Given the description of an element on the screen output the (x, y) to click on. 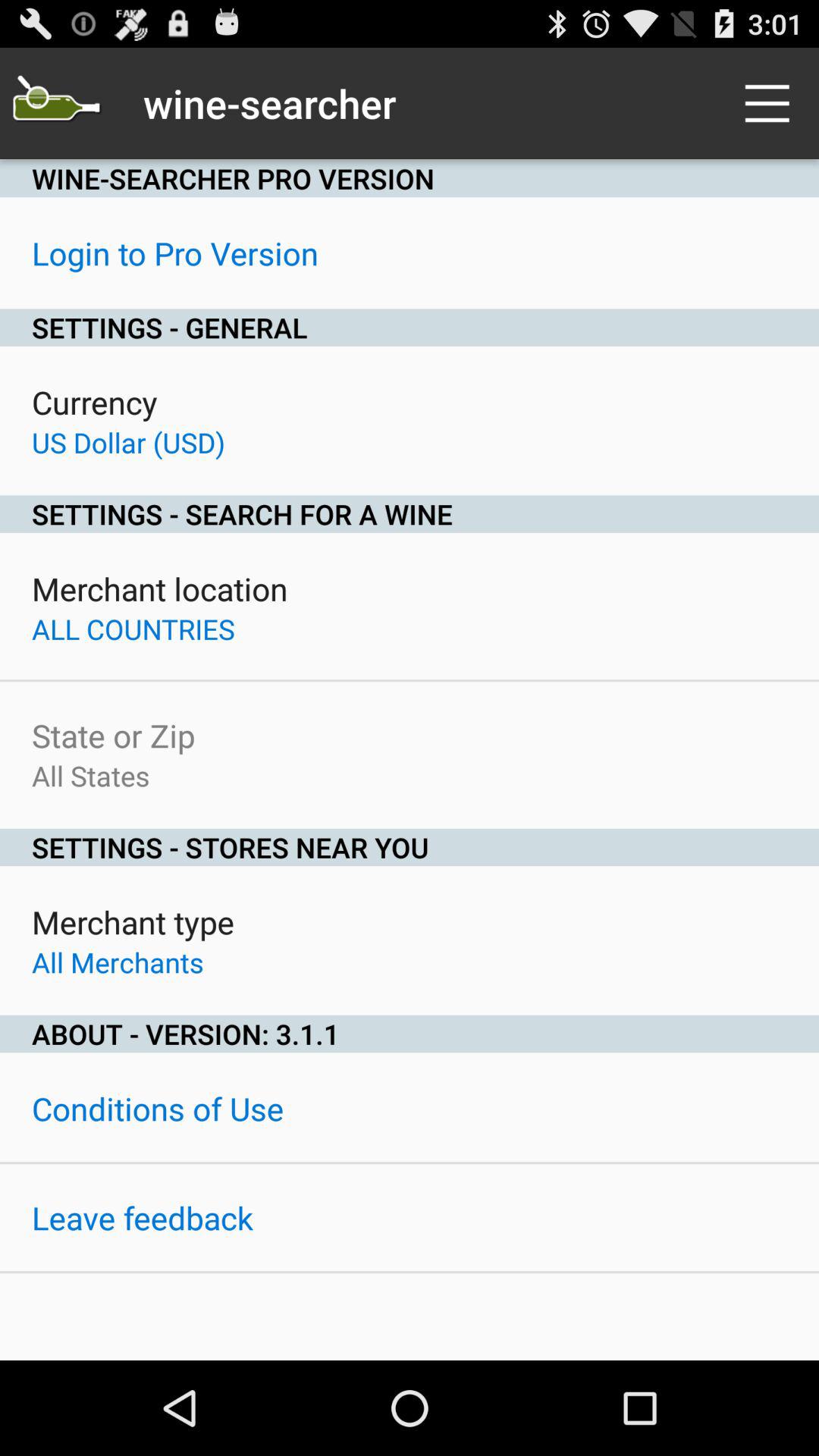
launch icon above all merchants icon (132, 921)
